Given the description of an element on the screen output the (x, y) to click on. 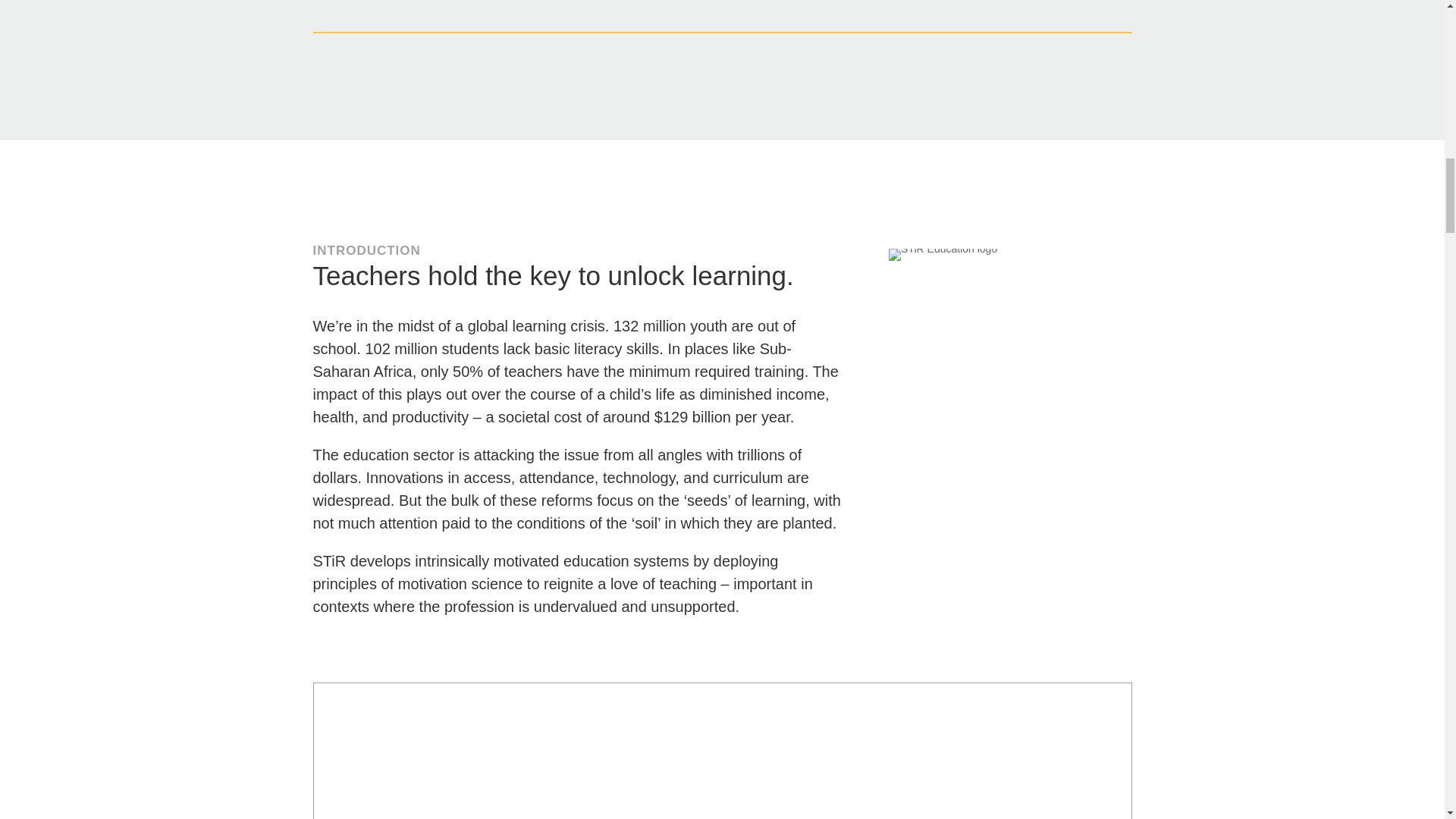
The STiR approach explained (722, 751)
